Given the description of an element on the screen output the (x, y) to click on. 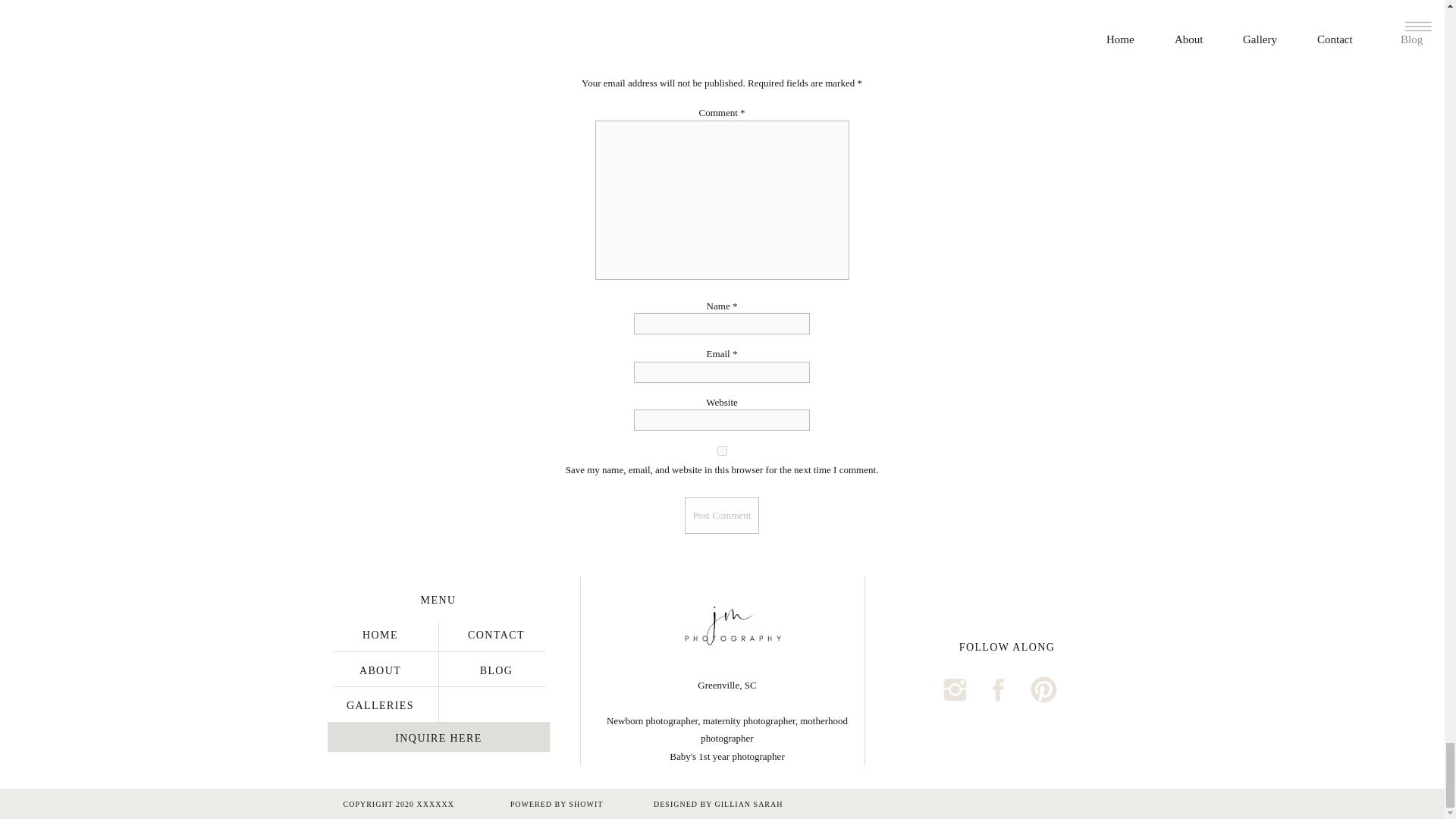
Post Comment (722, 515)
INQUIRE HERE (439, 737)
CONTACT (495, 633)
POWERED BY SHOWIT (555, 803)
COPYRIGHT 2020 XXXXXX (408, 803)
DESIGNED BY GILLIAN SARAH (711, 803)
ABOUT (380, 669)
BLOG (495, 669)
Post Comment (722, 515)
GALLERIES (380, 704)
